Given the description of an element on the screen output the (x, y) to click on. 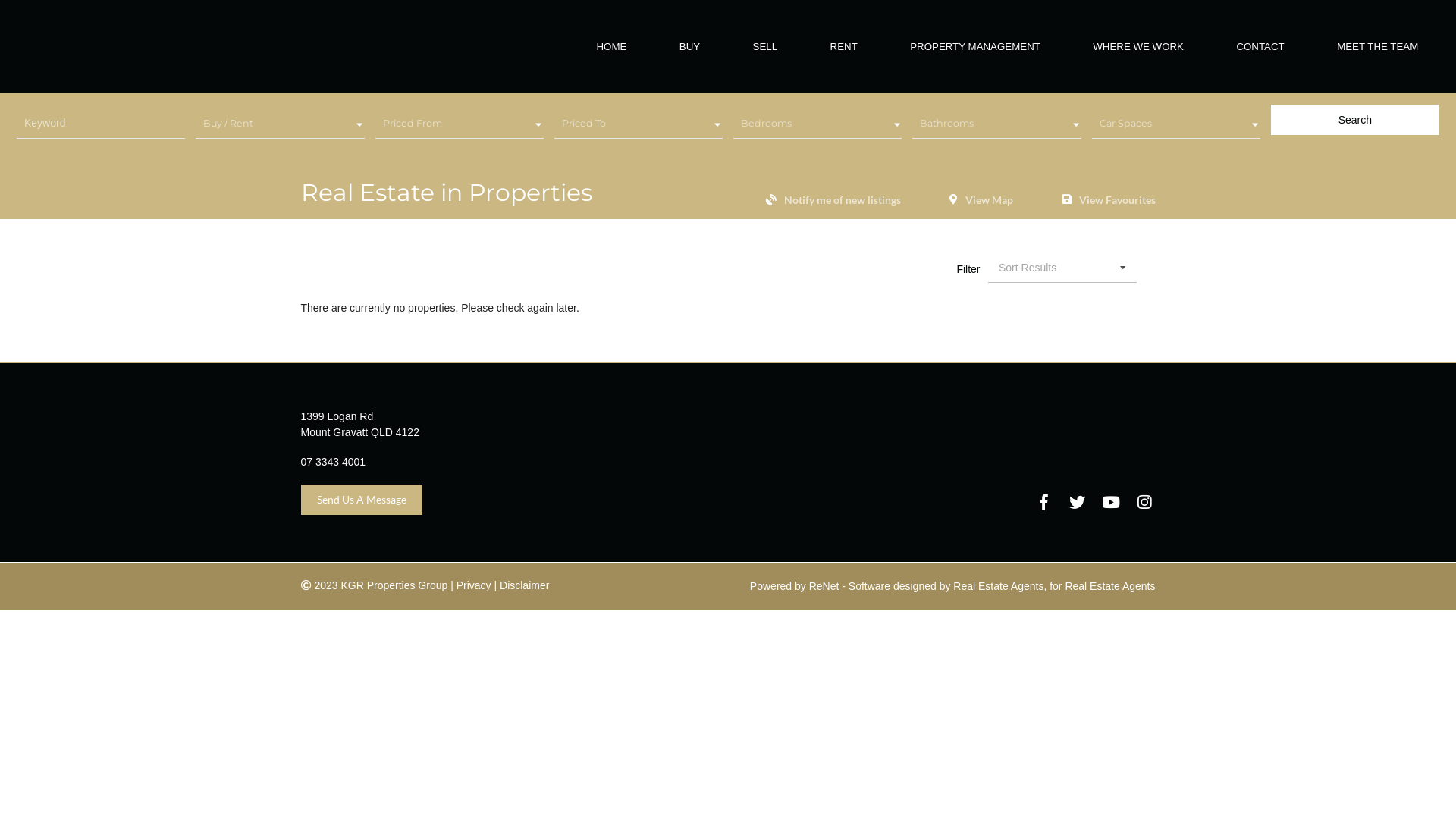
Search Element type: text (1354, 119)
CONTACT Element type: text (1259, 46)
Disclaimer Element type: text (524, 585)
SELL Element type: text (765, 46)
MEET THE TEAM Element type: text (1377, 46)
PROPERTY MANAGEMENT Element type: text (975, 46)
View Map Element type: text (989, 200)
BUY Element type: text (689, 46)
View Favourites Element type: text (1116, 200)
HOME Element type: text (611, 46)
Notify me of new listings Element type: text (842, 200)
WHERE WE WORK Element type: text (1137, 46)
07 3343 4001 Element type: text (332, 461)
Privacy Element type: text (473, 585)
RENT Element type: text (843, 46)
